Given the description of an element on the screen output the (x, y) to click on. 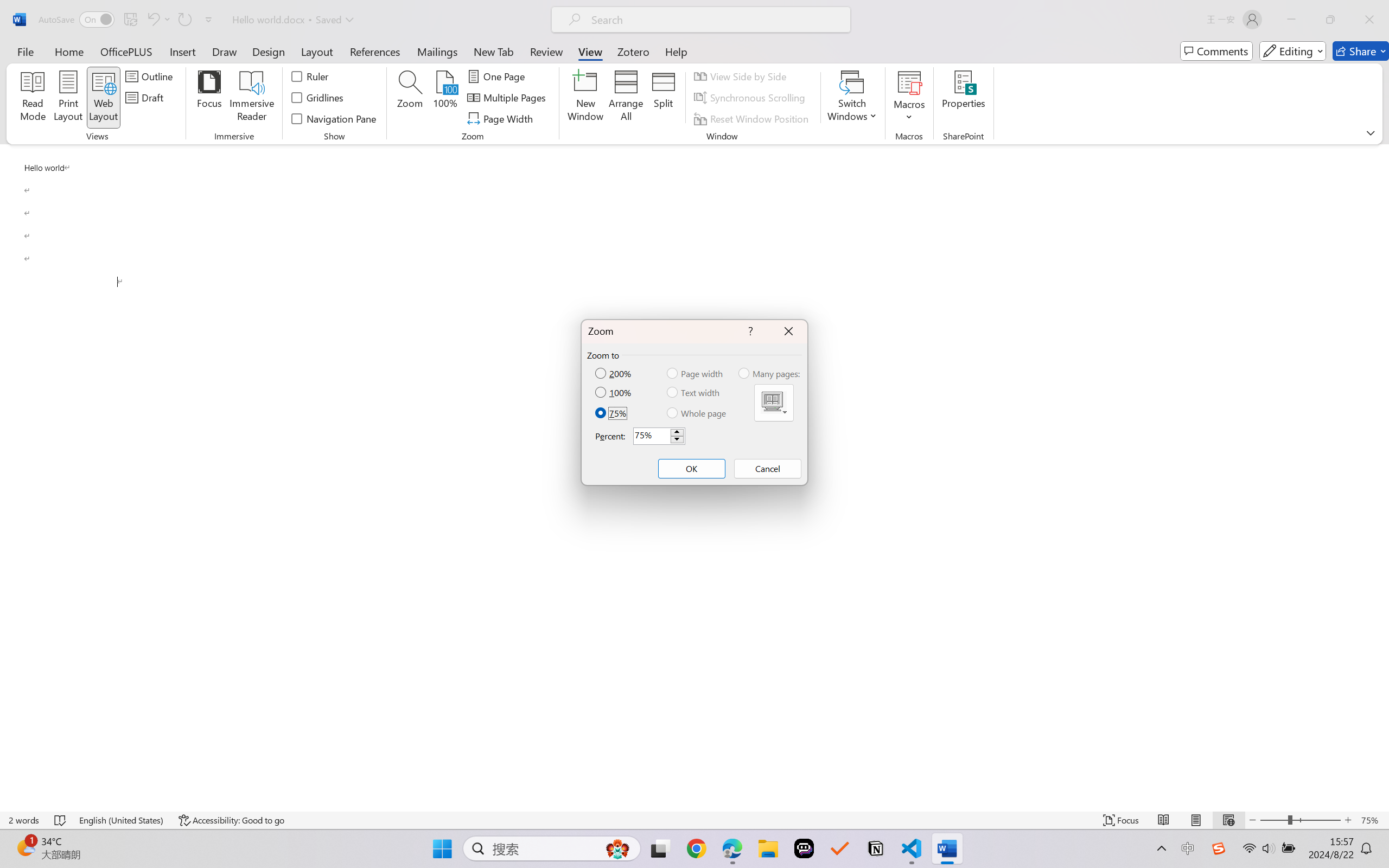
Properties (963, 97)
Review (546, 51)
View (589, 51)
200% (614, 373)
Synchronous Scrolling (751, 97)
Navigation Pane (334, 118)
OfficePLUS (126, 51)
Many pages: (769, 373)
Word Count 2 words (23, 819)
Zoom In (1348, 819)
AutoSave (76, 19)
Comments (1216, 50)
Arrange All (625, 97)
